Given the description of an element on the screen output the (x, y) to click on. 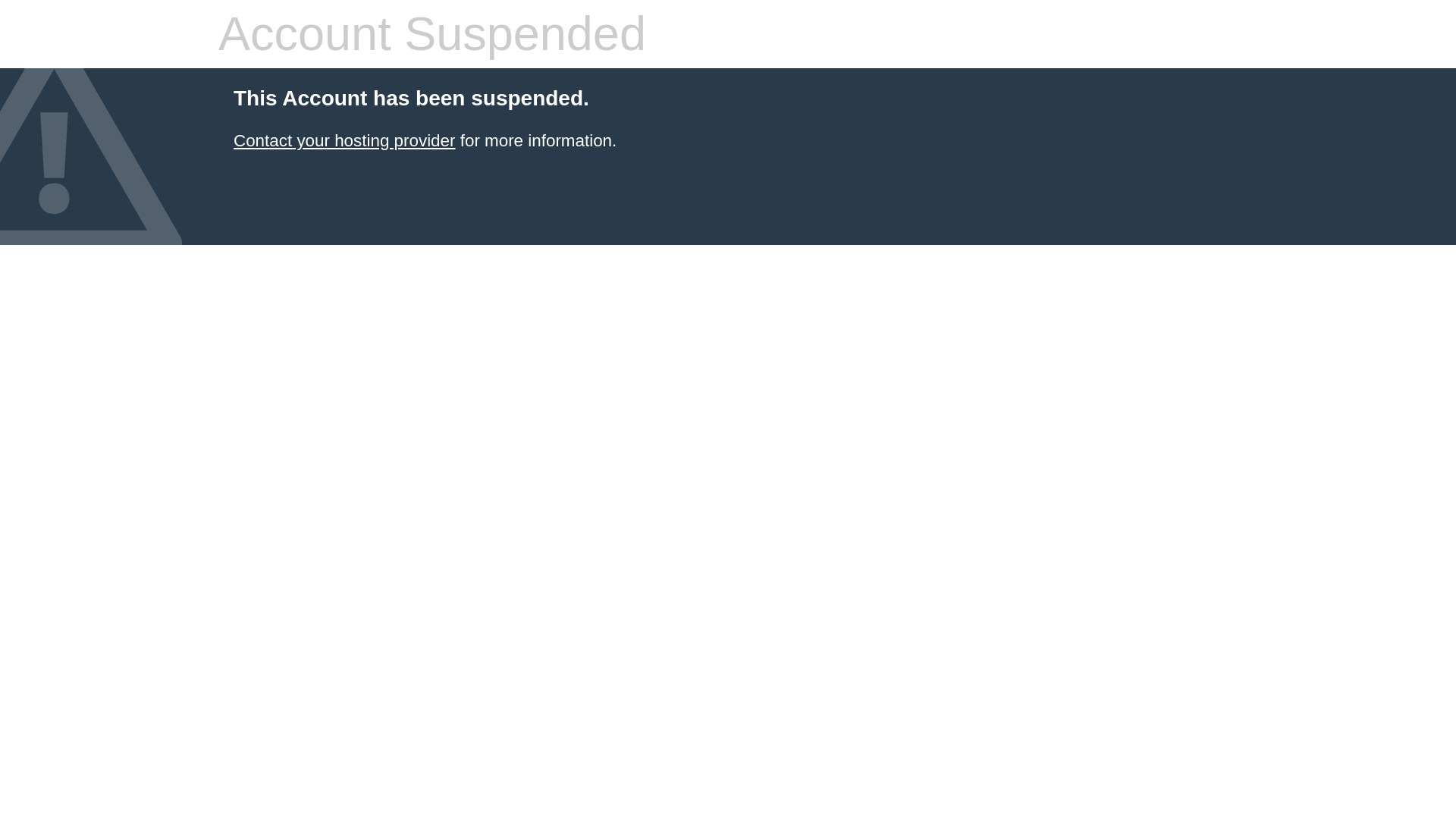
Contact your hosting provider (343, 140)
